Given the description of an element on the screen output the (x, y) to click on. 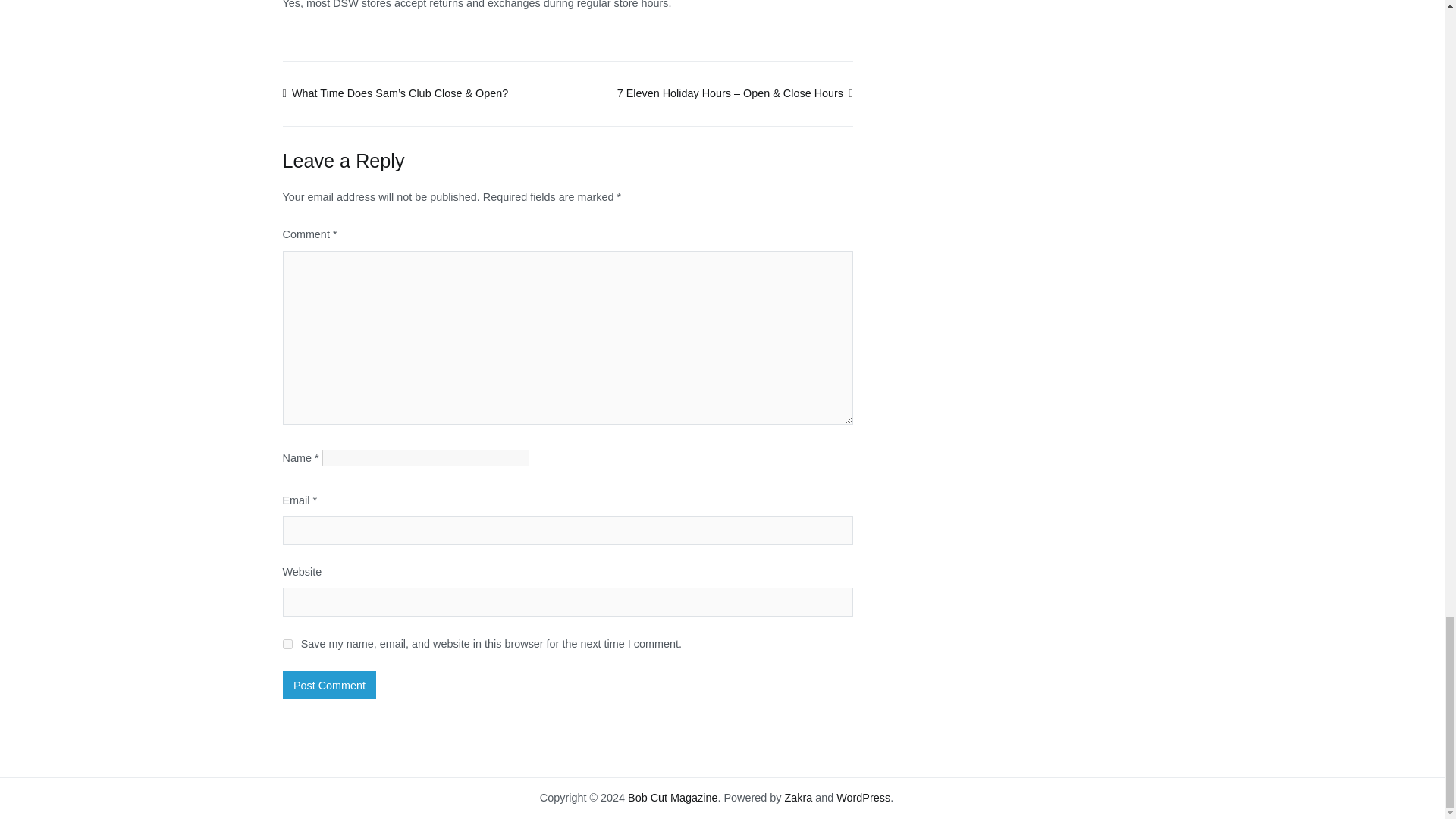
WordPress (862, 797)
Zakra (798, 797)
Bob Cut Magazine (672, 797)
yes (287, 644)
Post Comment (328, 684)
